Given the description of an element on the screen output the (x, y) to click on. 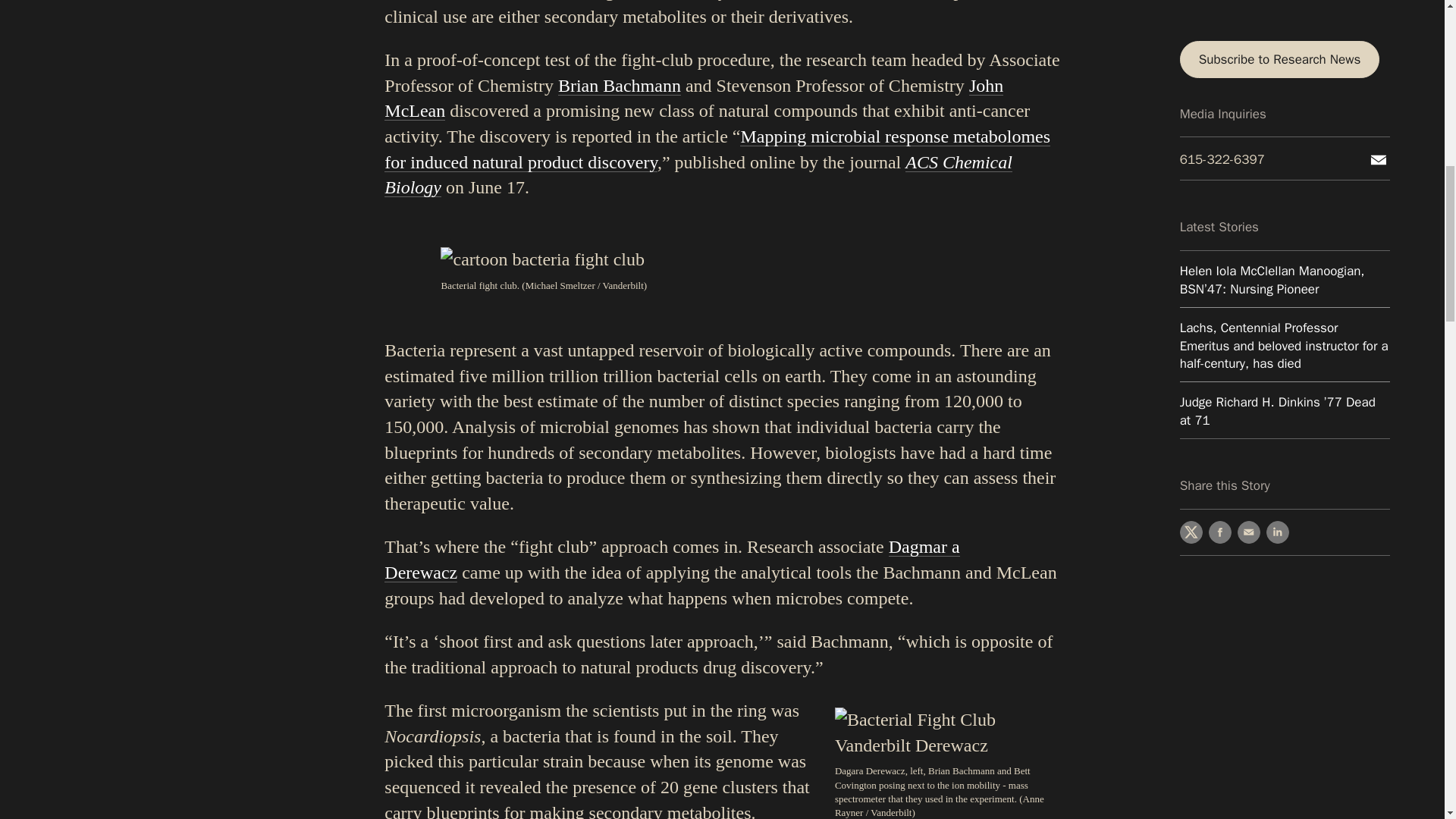
LinkedIn (1277, 110)
John McLean (693, 98)
Brian Bachmann (619, 85)
Twitter (1190, 110)
Facebook (1219, 110)
ACS Chemical Biology (697, 174)
Dagmar a Derewacz (671, 559)
ReasearchVUBacteriaFightClubP250perecentOpacity.jpg (543, 259)
Email (1248, 110)
DerewaczBachmannCovingtonweb (946, 732)
